Given the description of an element on the screen output the (x, y) to click on. 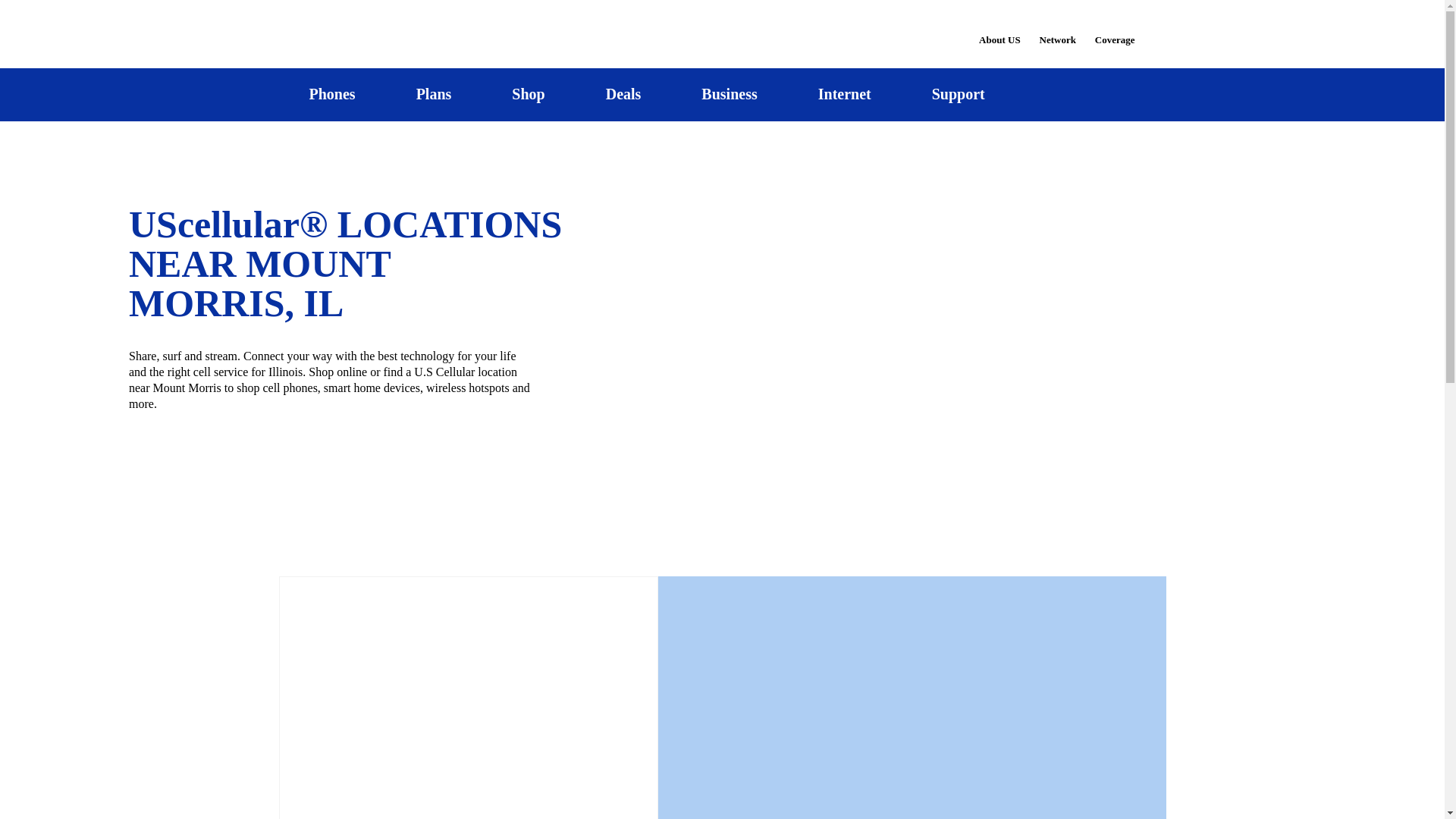
Internet (844, 94)
Business (729, 94)
Deals (623, 94)
Support (957, 94)
Coverage (1115, 29)
Plans (433, 94)
About US (999, 30)
Shop (528, 94)
Phones (332, 94)
Network (1057, 30)
